Given the description of an element on the screen output the (x, y) to click on. 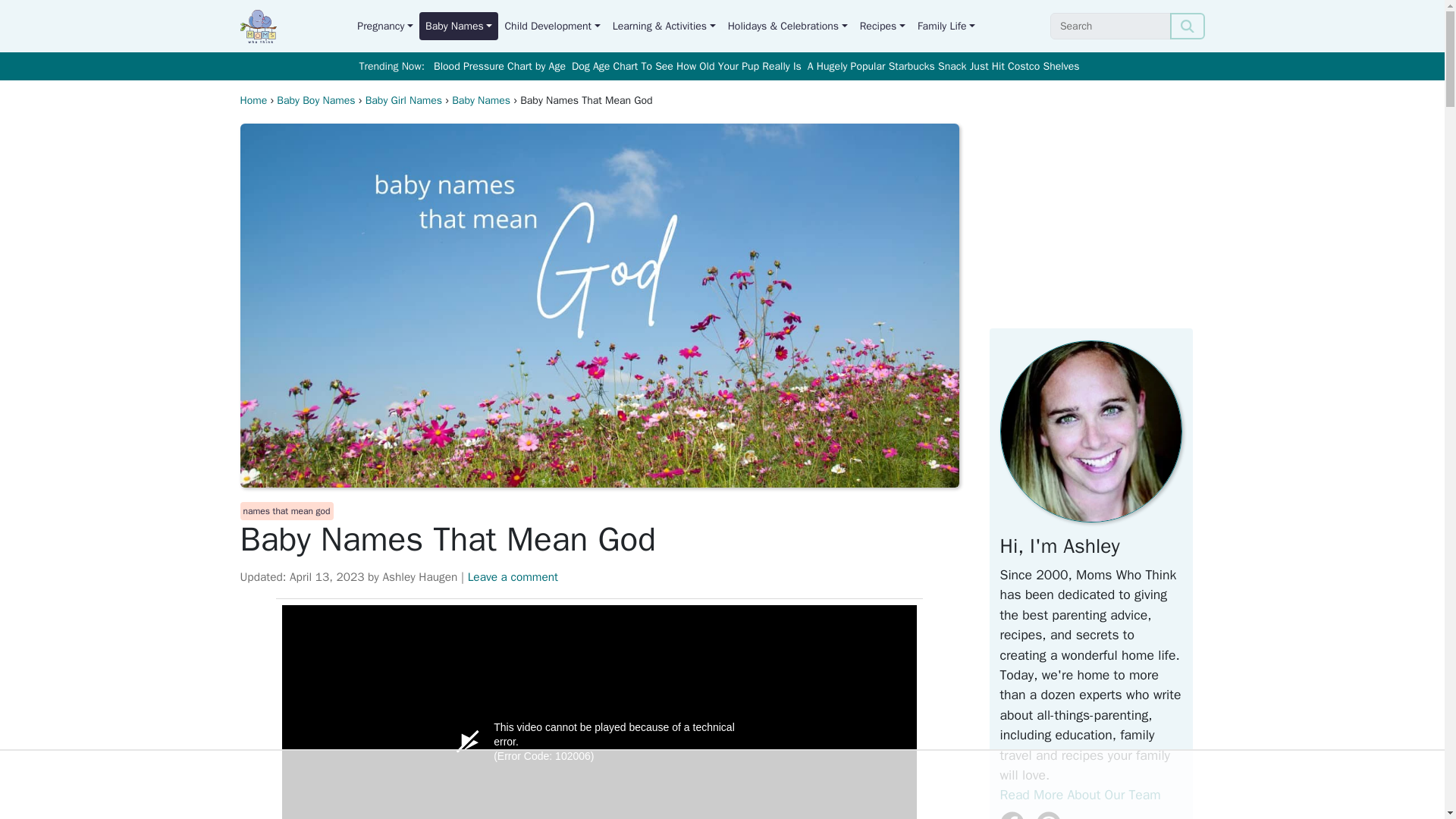
Pregnancy (384, 26)
Baby Names (458, 26)
Recipes (882, 26)
Child Development (551, 26)
